Given the description of an element on the screen output the (x, y) to click on. 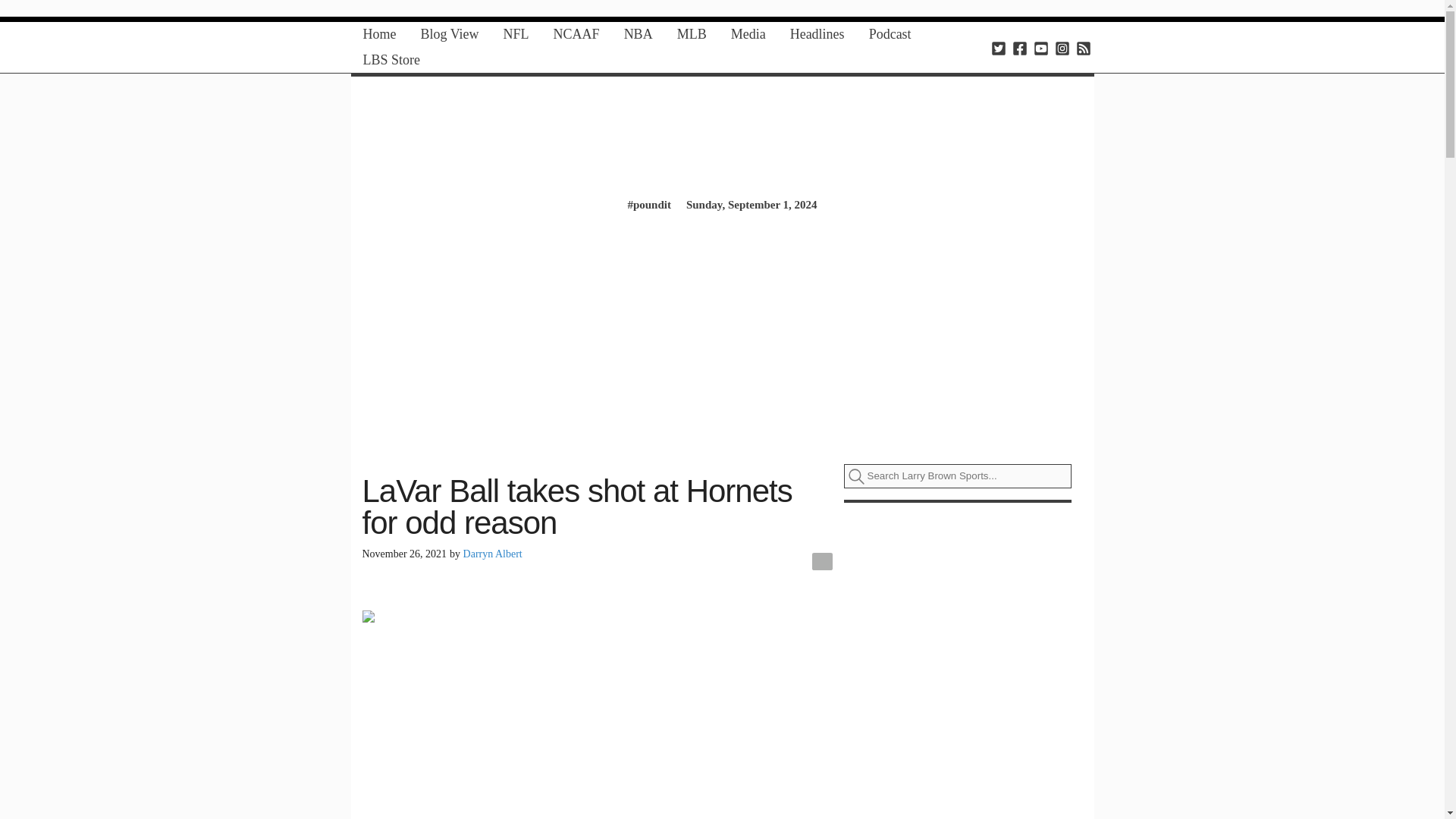
View Larry Brown Sports Facebook (1018, 47)
NCAAF (576, 34)
NBA (638, 34)
LBS Store (391, 59)
Subscribe to Larry Brown Sports RSS Feed (1082, 47)
View Larry Brown Sports Youtube (1040, 47)
Home (378, 34)
Podcast (890, 34)
Media (748, 34)
Darryn Albert (492, 553)
